Given the description of an element on the screen output the (x, y) to click on. 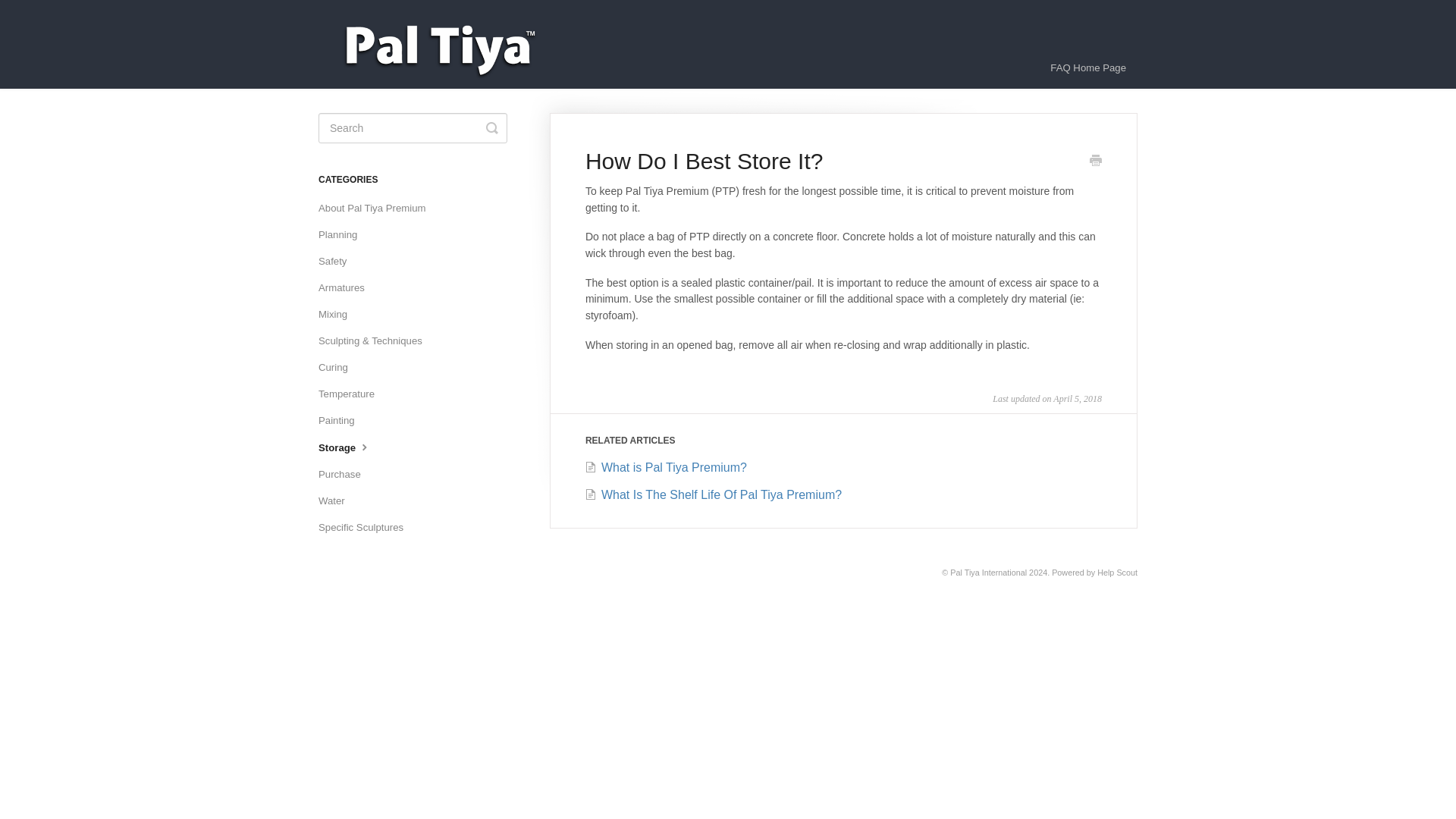
Pal Tiya International (988, 572)
Specific Sculptures (366, 527)
Armatures (346, 288)
Planning (343, 234)
Storage (351, 447)
Water (337, 500)
Help Scout (1117, 572)
About Pal Tiya Premium (377, 208)
Purchase (345, 474)
Curing (338, 367)
Painting (342, 420)
Safety (338, 261)
search-query (412, 128)
FAQ Home Page (1088, 67)
What Is The Shelf Life Of Pal Tiya Premium? (713, 494)
